Given the description of an element on the screen output the (x, y) to click on. 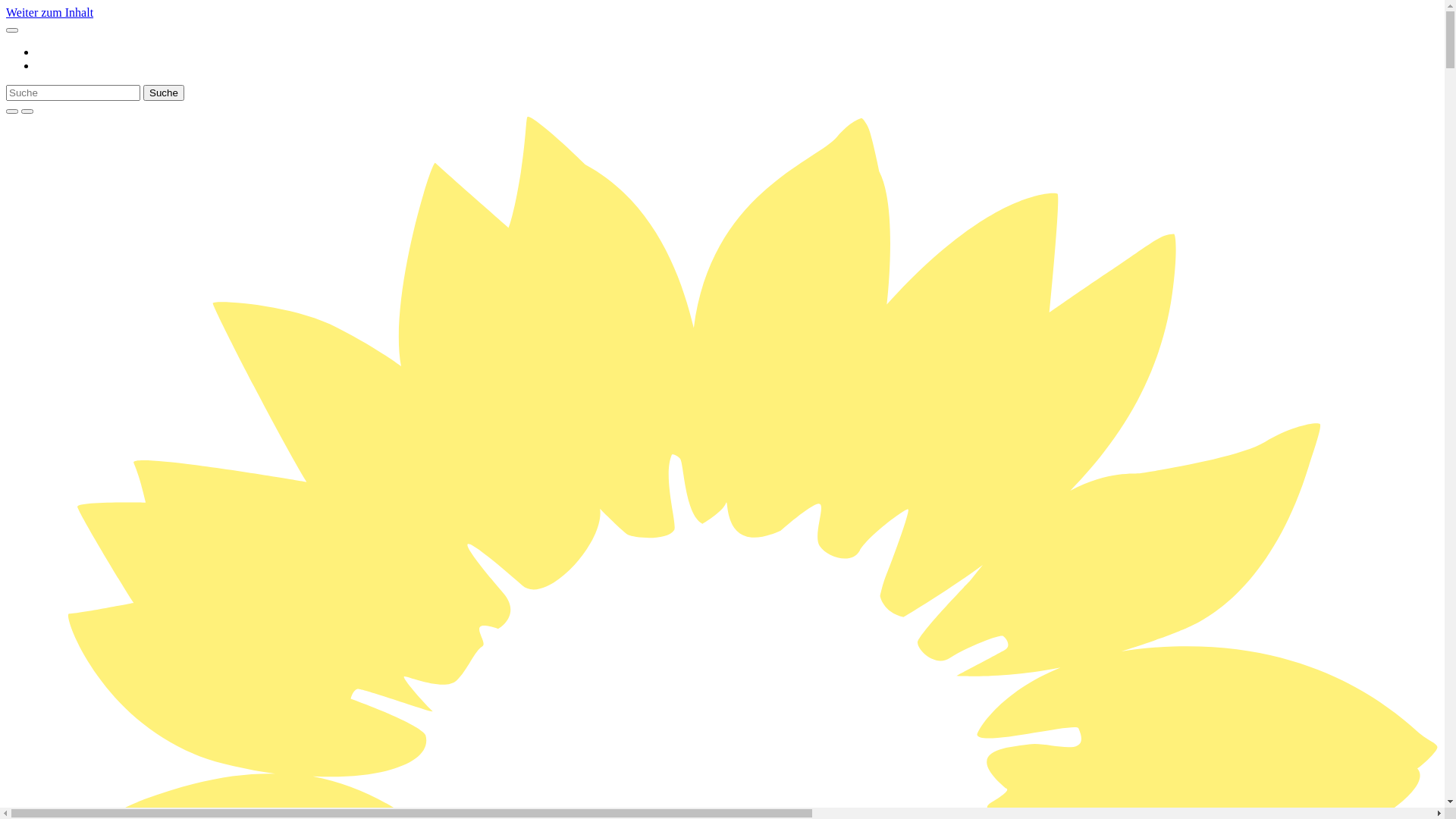
zeige Suche Element type: hover (12, 111)
Suche Element type: text (163, 92)
Weiter zum Inhalt Element type: text (49, 12)
